Given the description of an element on the screen output the (x, y) to click on. 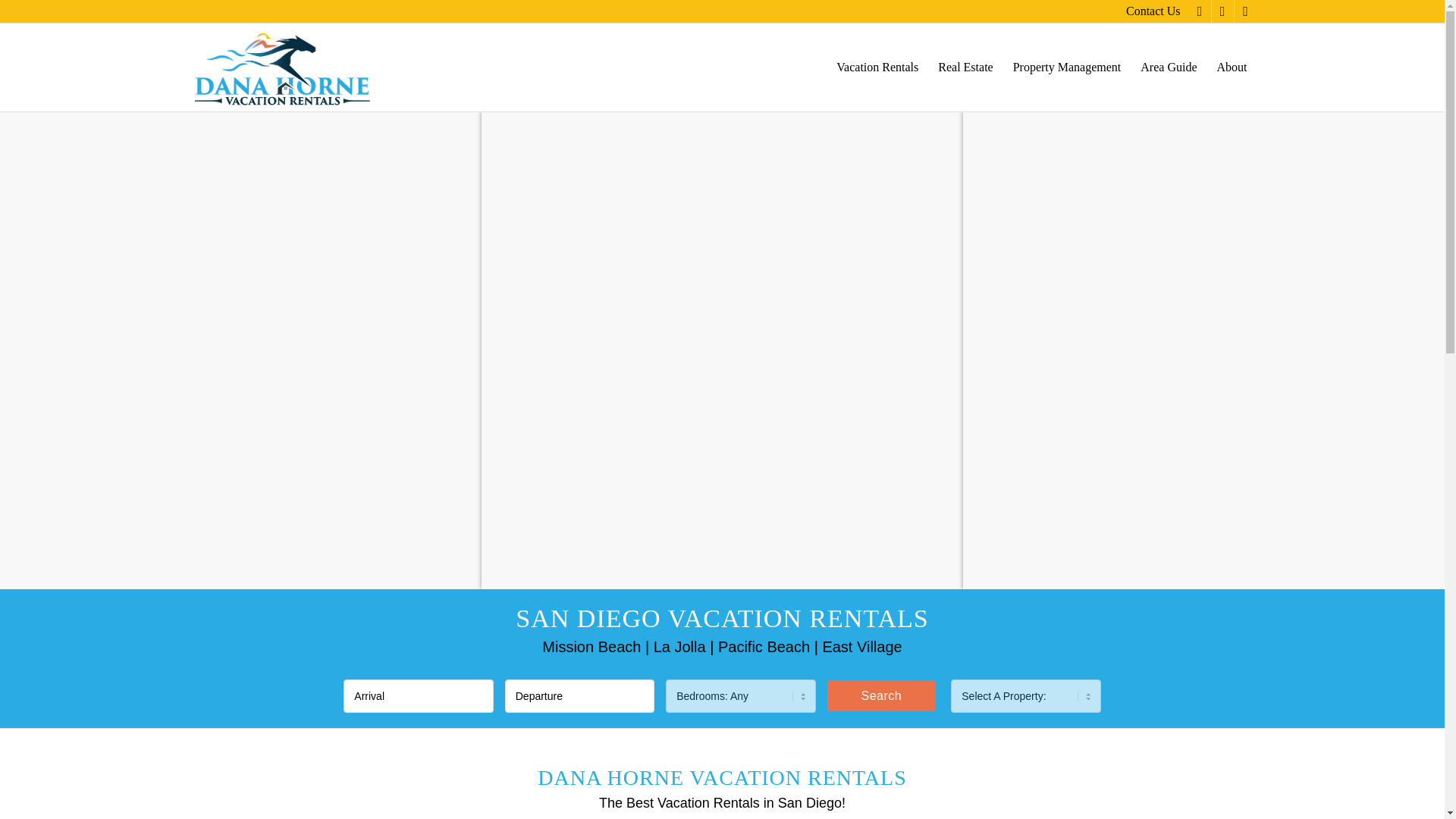
Pinterest (1245, 11)
Property Management (1067, 67)
Contact Us (1152, 11)
Search (881, 695)
Dana Horne Vacation Rentals Logo (282, 67)
Departure (579, 695)
Vacation Rentals (877, 67)
Arrival (418, 695)
Facebook (1200, 11)
X (1222, 11)
